Given the description of an element on the screen output the (x, y) to click on. 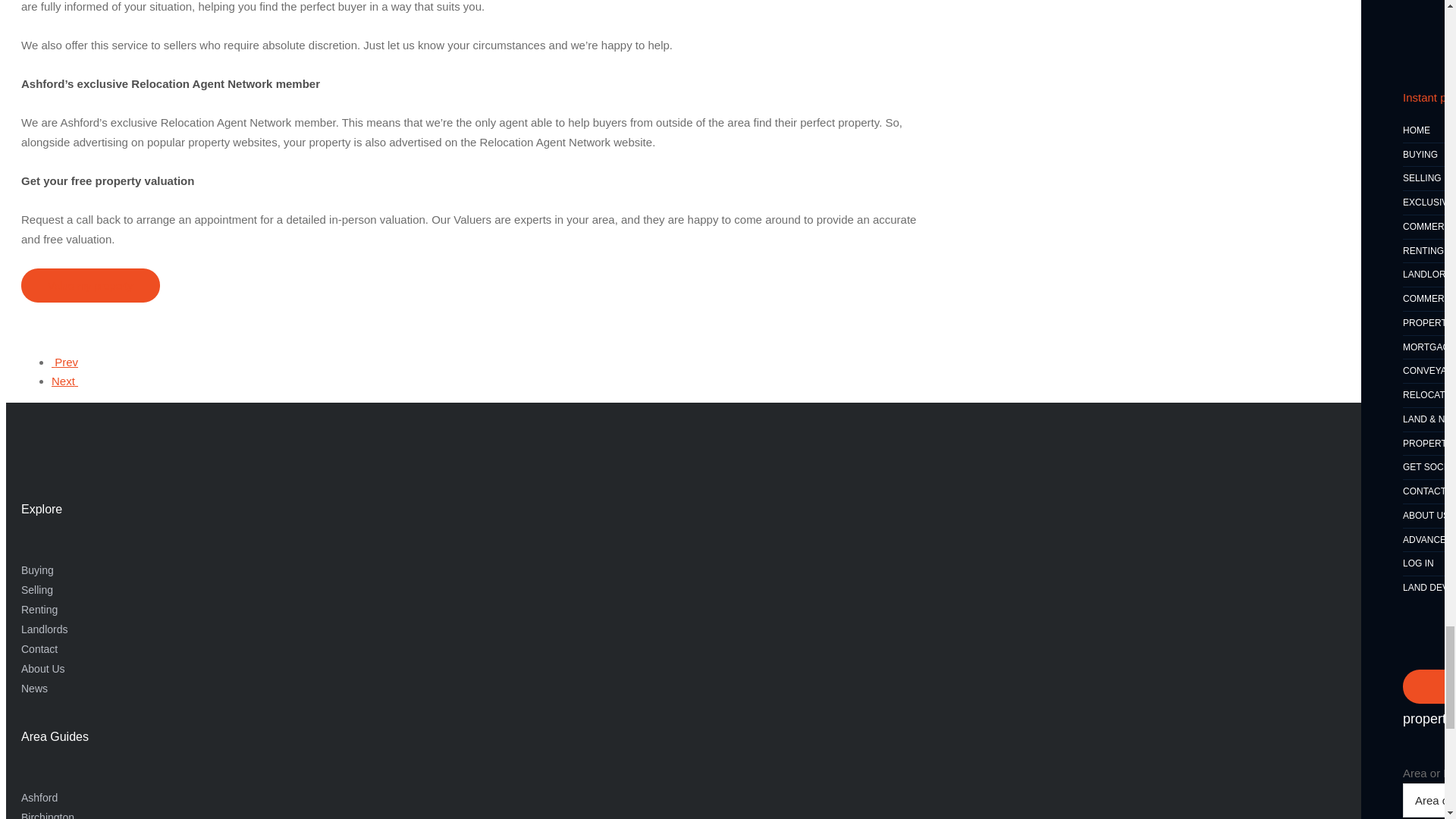
Buying (37, 570)
Next (64, 380)
Landlords (44, 629)
Value my property (90, 285)
Contact (39, 648)
Ashford (39, 797)
News (34, 688)
Birchington (47, 815)
Birchington (64, 361)
Folkestone (64, 380)
About Us (43, 668)
Selling (36, 589)
Renting (39, 609)
Prev (64, 361)
